Given the description of an element on the screen output the (x, y) to click on. 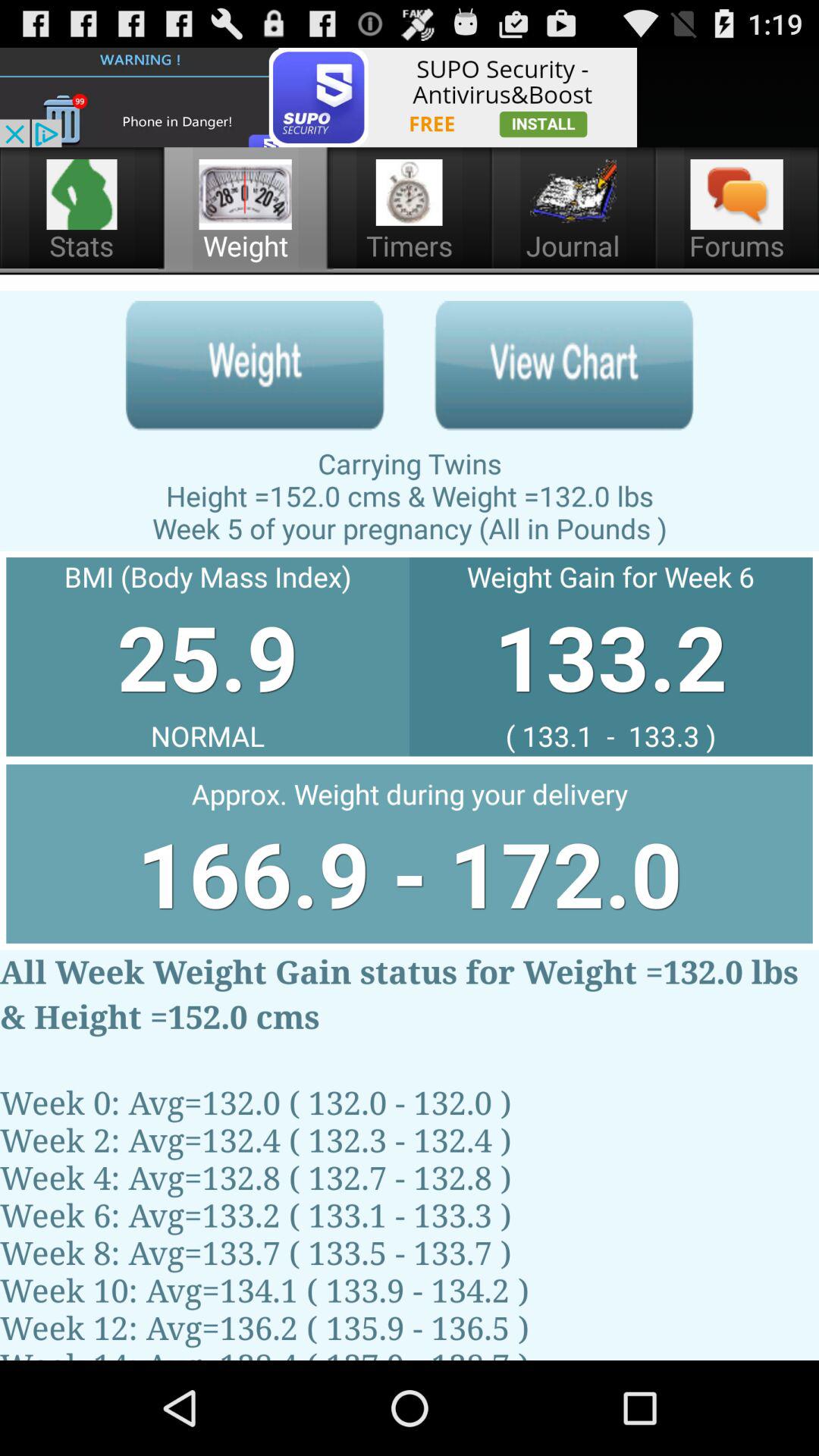
go to opsion (254, 365)
